Given the description of an element on the screen output the (x, y) to click on. 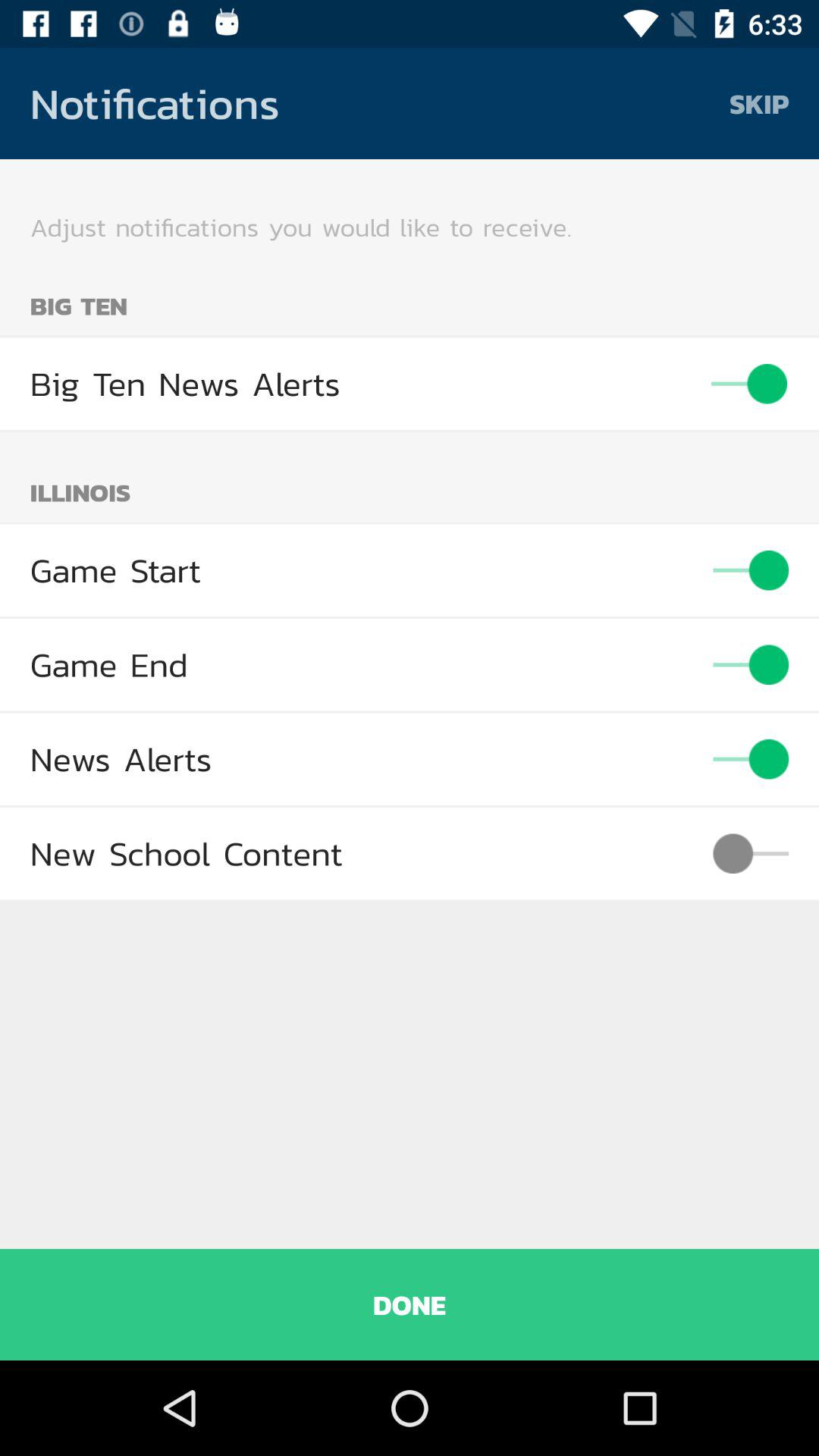
click the icon below the new school content item (409, 1304)
